Given the description of an element on the screen output the (x, y) to click on. 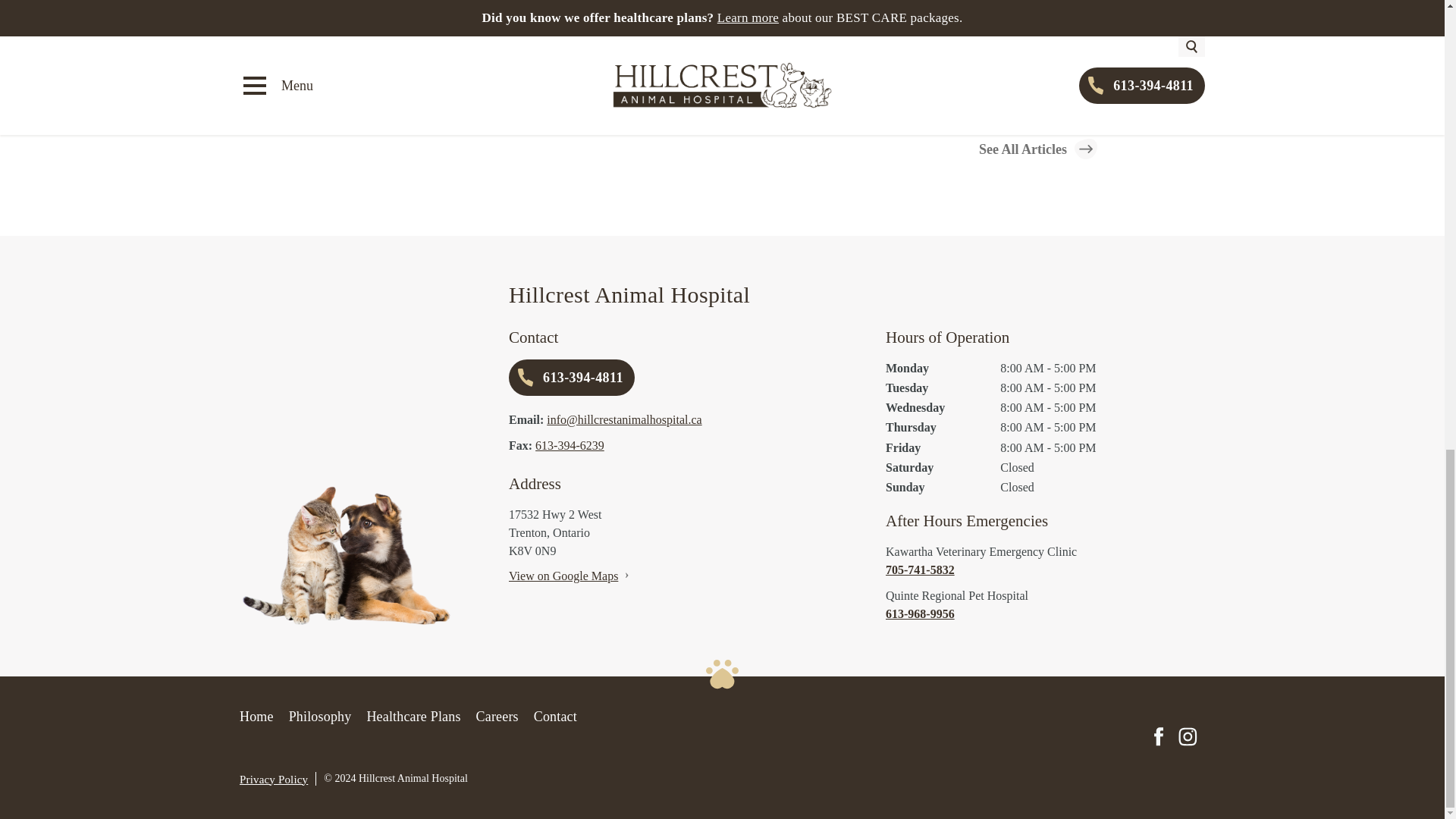
705-741-5832 (1045, 570)
View on Google Maps (562, 575)
613-394-6239 (569, 445)
See All Articles (1037, 148)
613-394-4811 (571, 377)
